Given the description of an element on the screen output the (x, y) to click on. 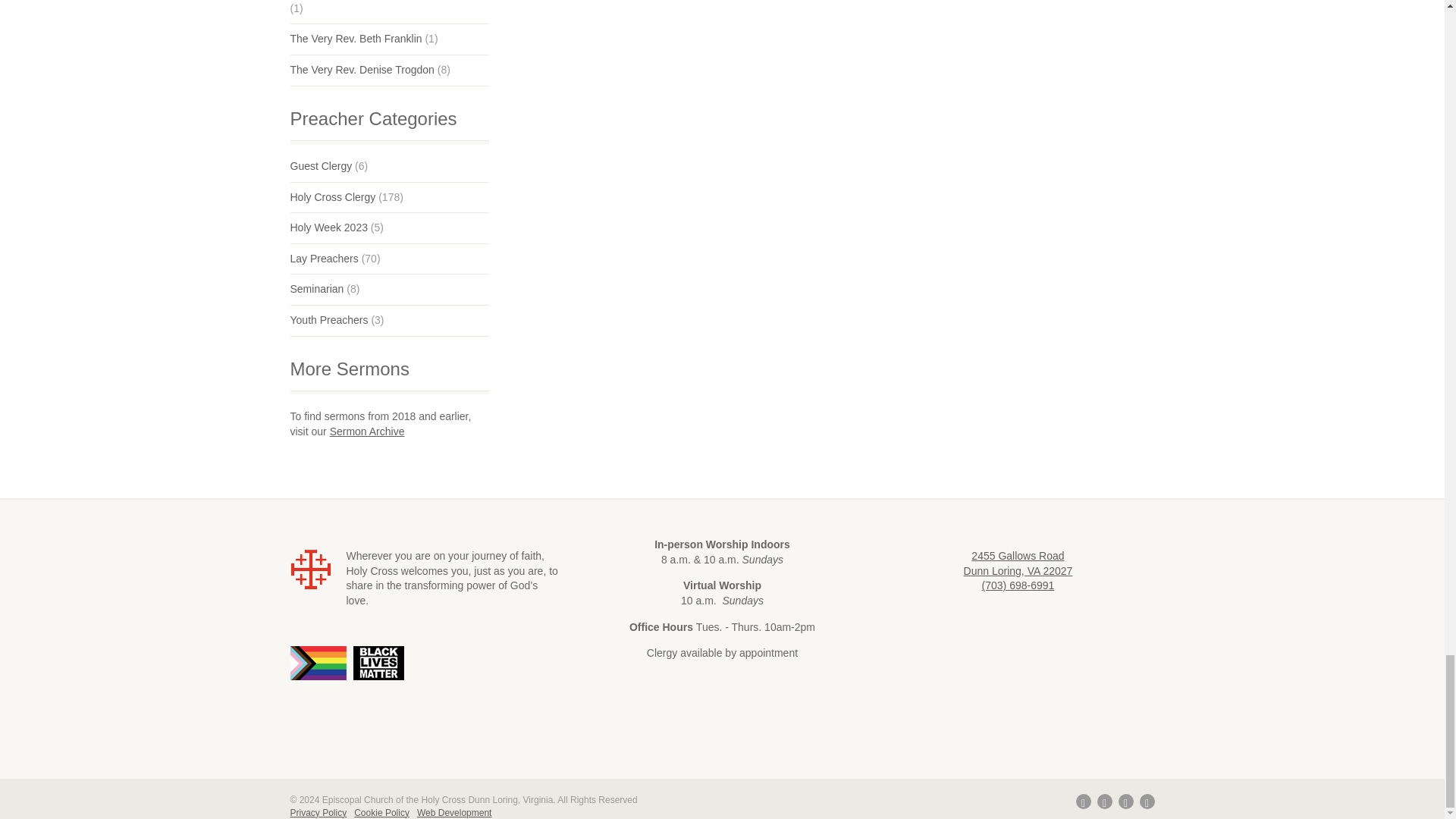
Telephone (1017, 585)
Directions to Holy Cross using Google Maps (1018, 563)
Cookie Policy  (381, 812)
Privacy Policy  (317, 812)
